Given the description of an element on the screen output the (x, y) to click on. 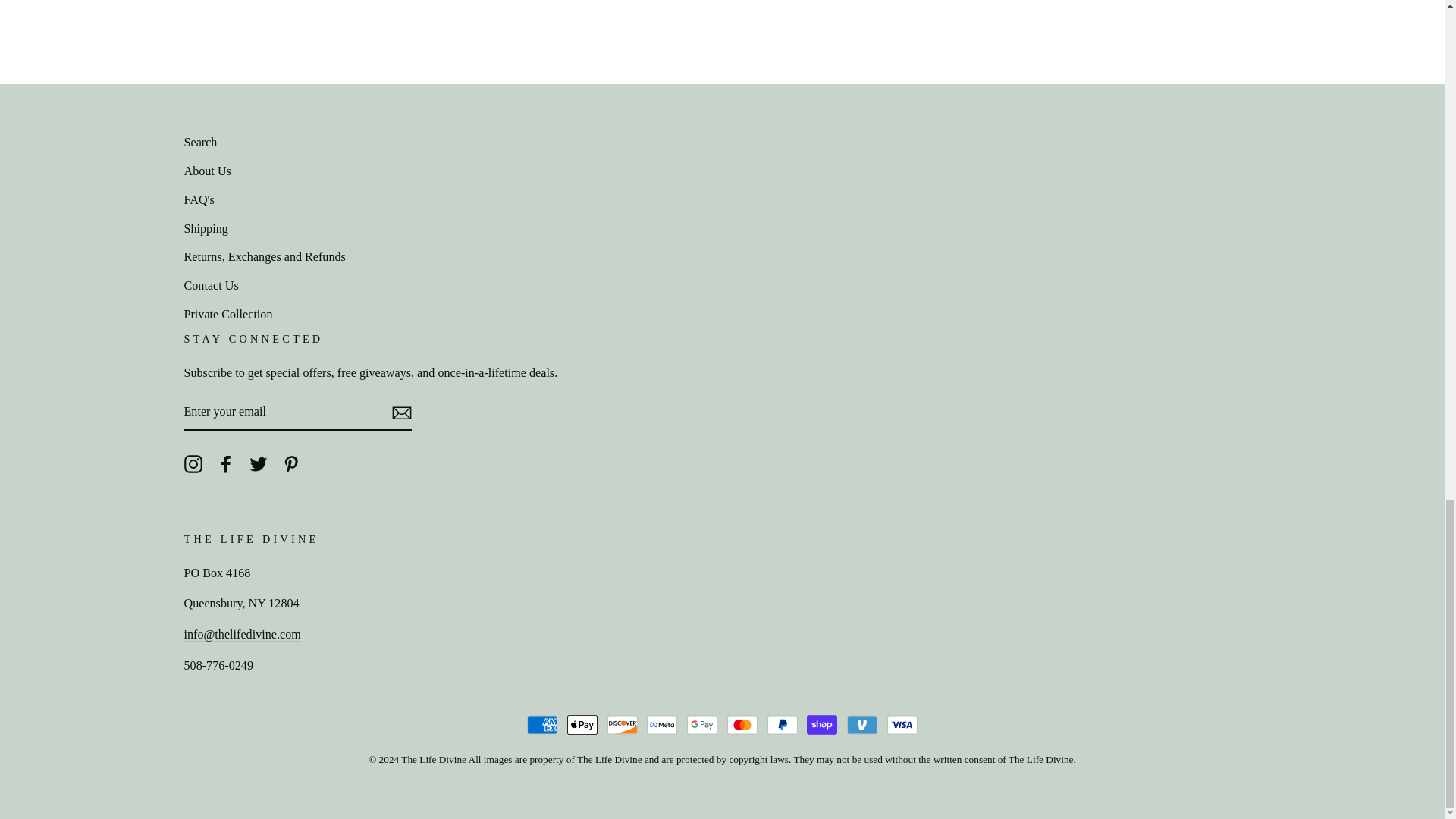
Apple Pay (581, 725)
Contact Us (241, 635)
The Life Divine on Pinterest (290, 463)
The Life Divine on Instagram (192, 463)
The Life Divine on Facebook (225, 463)
The Life Divine on Twitter (257, 463)
American Express (542, 725)
